Given the description of an element on the screen output the (x, y) to click on. 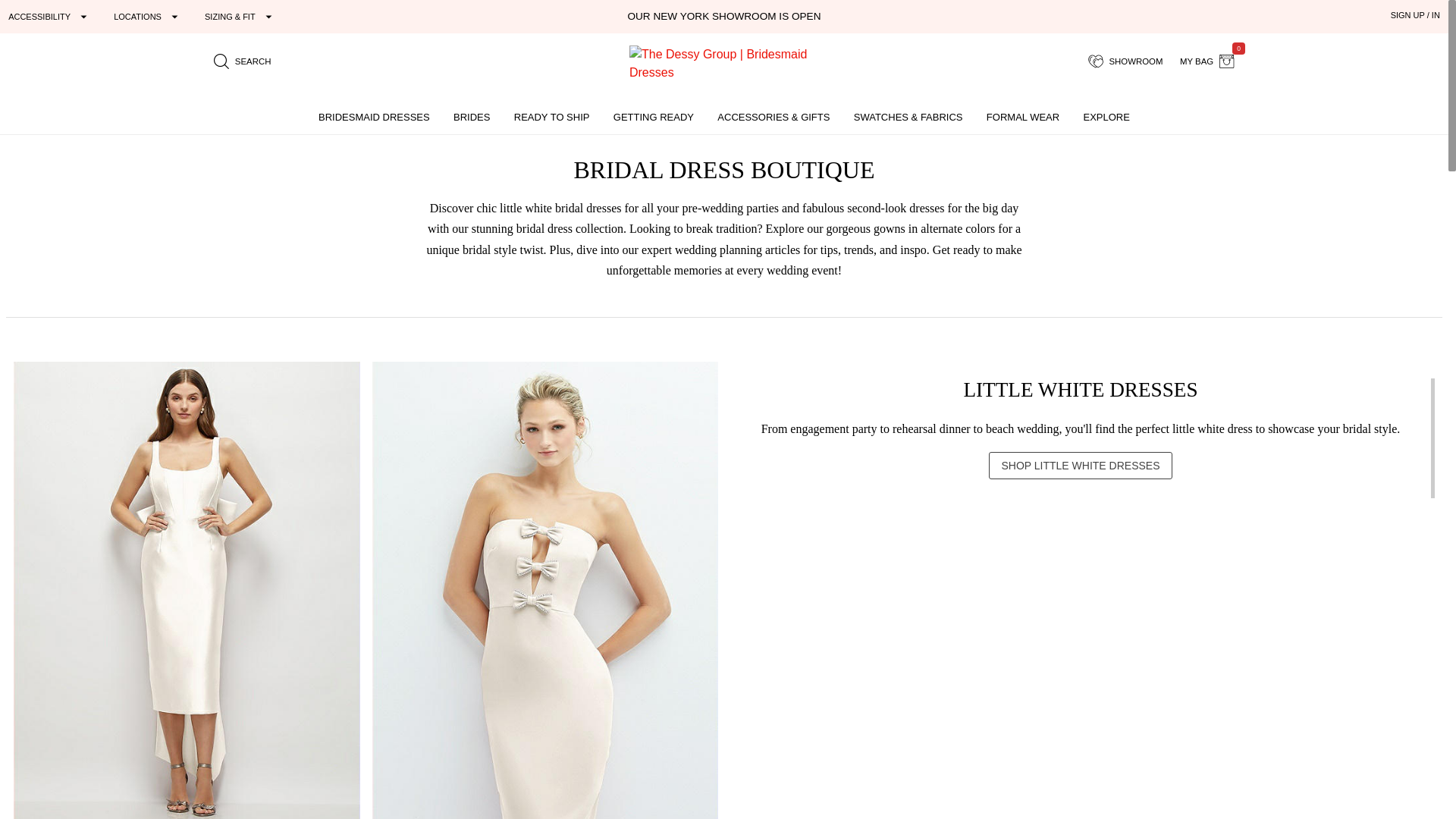
SEARCH (242, 60)
BRIDESMAID DRESSES (373, 117)
LOCATIONS (148, 16)
ACCESSIBILITY (49, 16)
SHOWROOM (1207, 60)
OUR NEW YORK SHOWROOM IS OPEN (1126, 60)
